Given the description of an element on the screen output the (x, y) to click on. 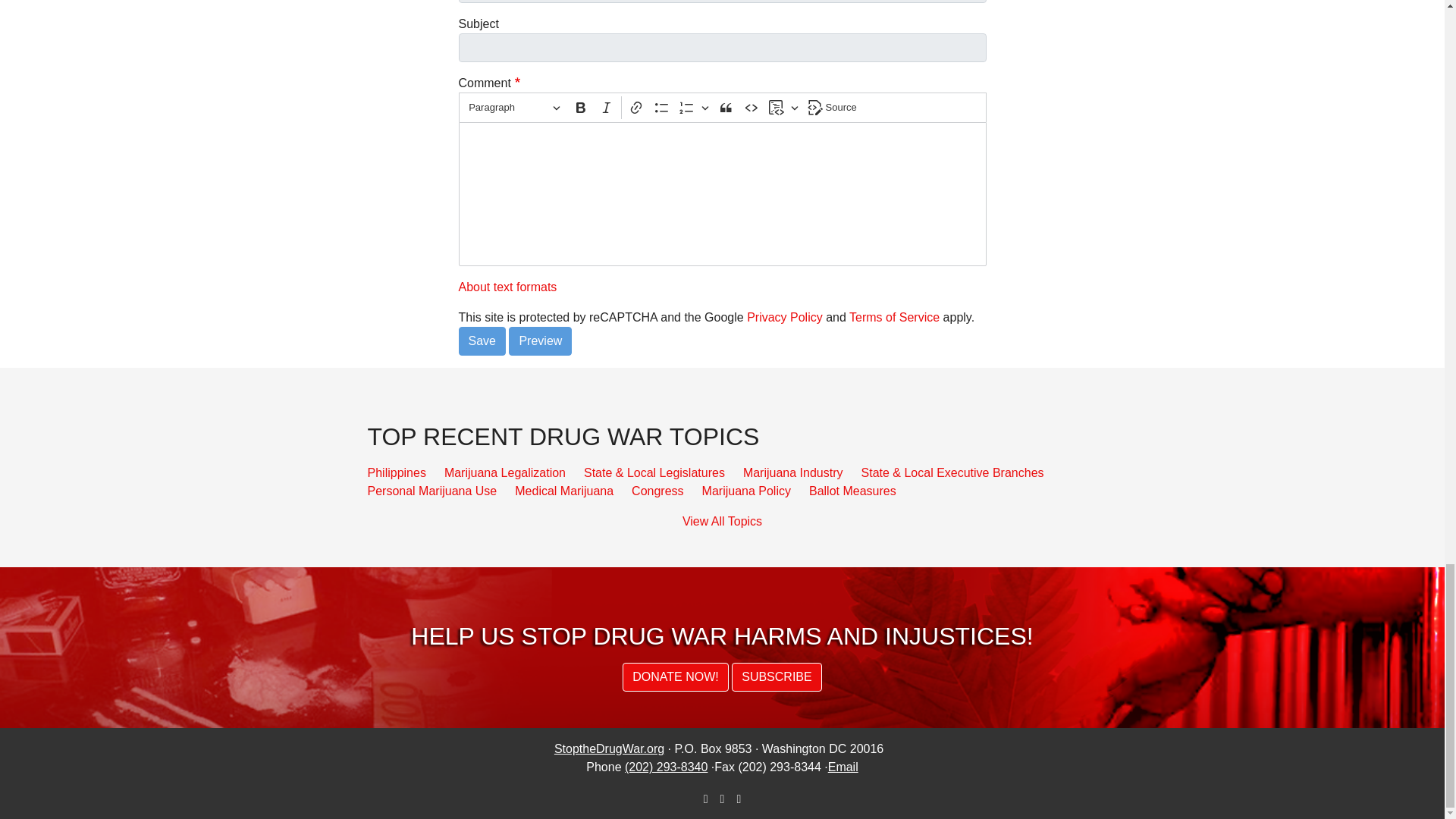
Save (481, 340)
Preview (540, 340)
